Given the description of an element on the screen output the (x, y) to click on. 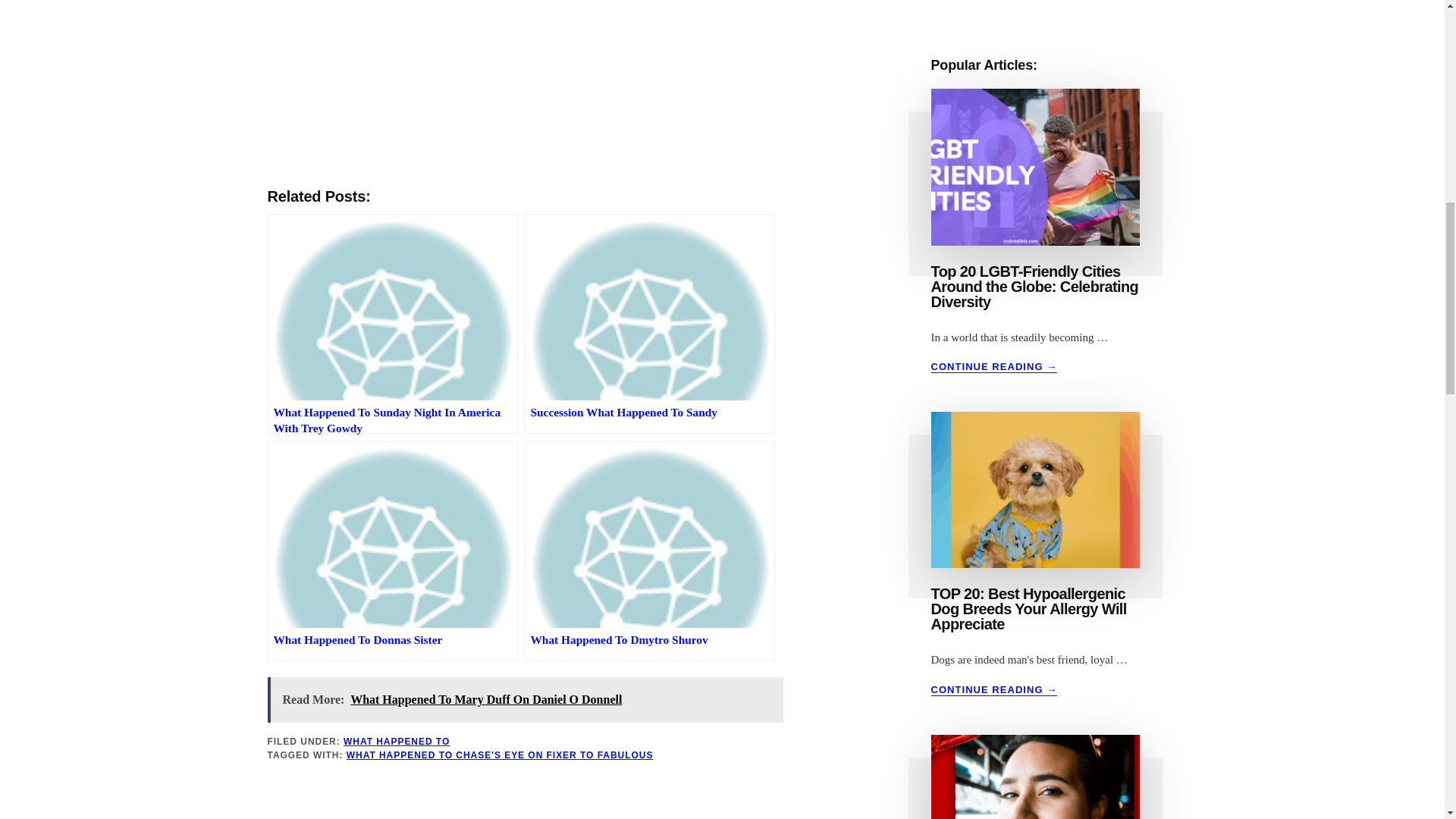
What Happened To Sunday Night In America With Trey Gowdy (391, 323)
What Happened To Dmytro Shurov (649, 550)
Succession What Happened To Sandy (649, 323)
What Happened To Donnas Sister (391, 550)
WHAT HAPPENED TO (396, 741)
What Happened To Sunday Night In America With Trey Gowdy (391, 323)
What Happened To Donnas Sister (391, 550)
Succession What Happened To Sandy (649, 323)
Advertisement (524, 87)
